Given the description of an element on the screen output the (x, y) to click on. 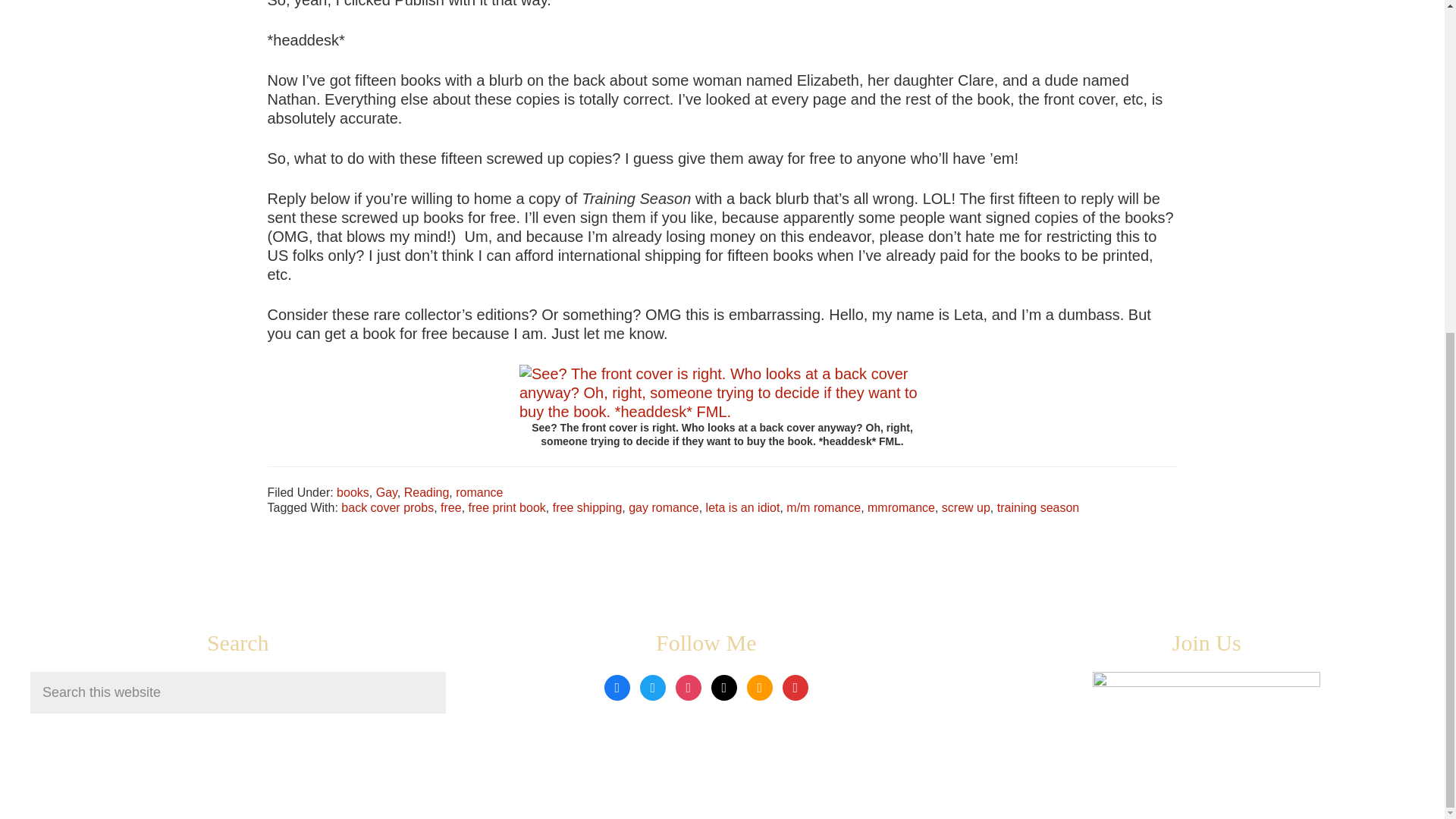
Instagram (688, 686)
Twitter (652, 686)
Default Label (795, 686)
Default Label (723, 686)
Facebook (617, 686)
Default Label (759, 686)
